Given the description of an element on the screen output the (x, y) to click on. 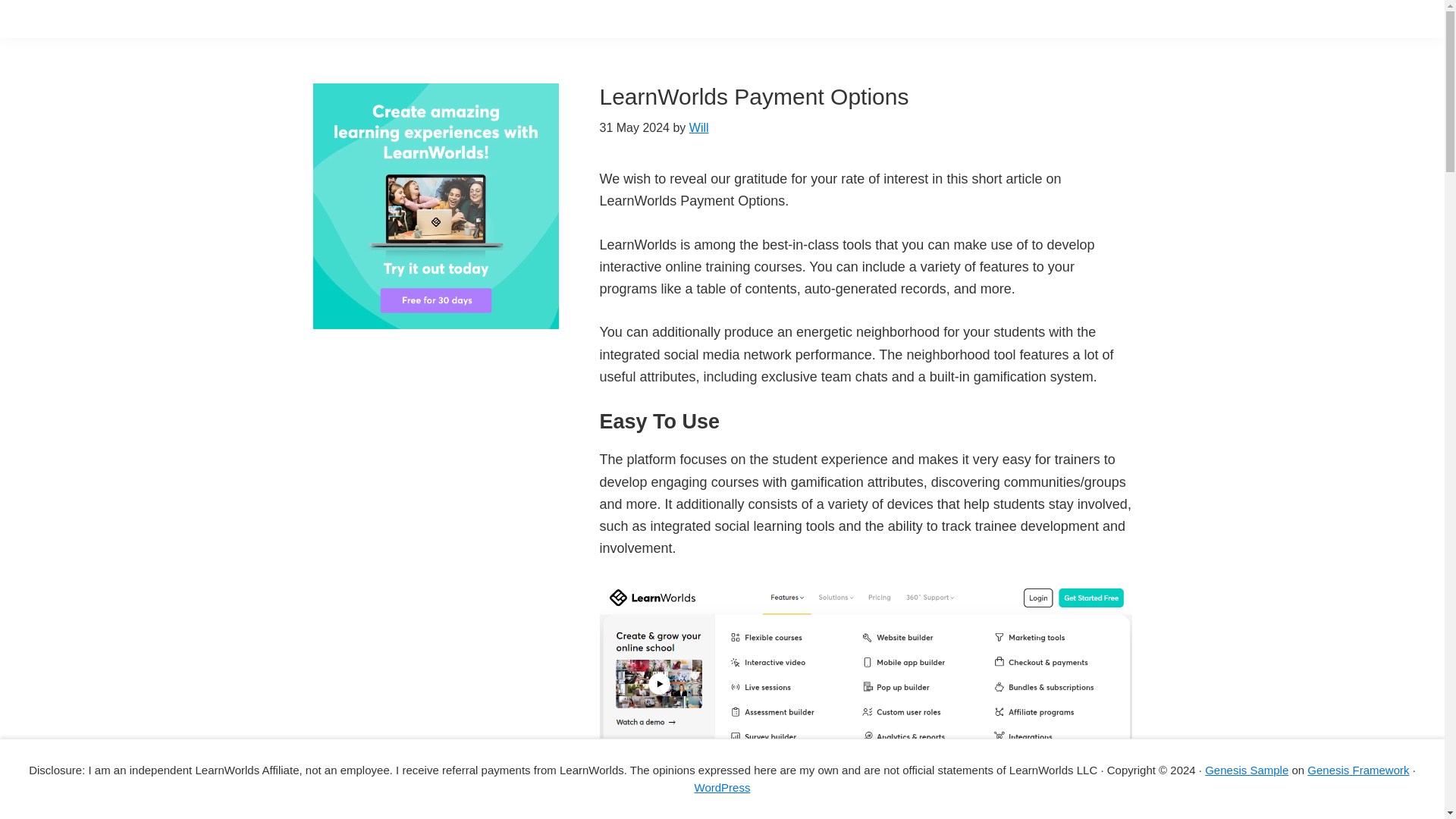
Genesis Sample (1246, 769)
Genesis Framework (1358, 769)
Will (698, 127)
WordPress (722, 787)
